Given the description of an element on the screen output the (x, y) to click on. 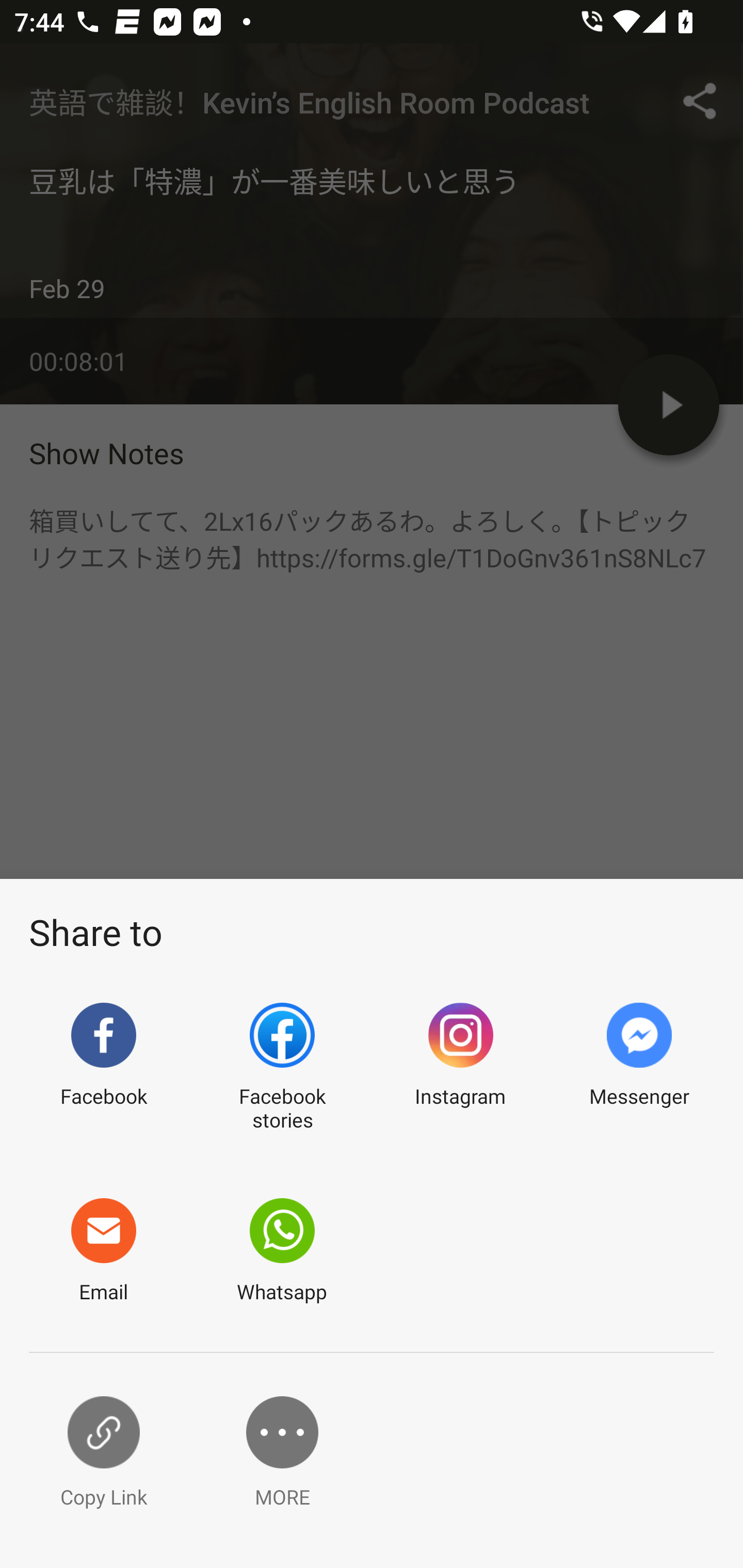
Facebook (103, 1067)
Facebook stories (282, 1067)
Instagram (460, 1067)
Messenger (638, 1067)
Email (103, 1251)
Whatsapp (282, 1251)
Copy Link (103, 1453)
MORE (282, 1453)
